Given the description of an element on the screen output the (x, y) to click on. 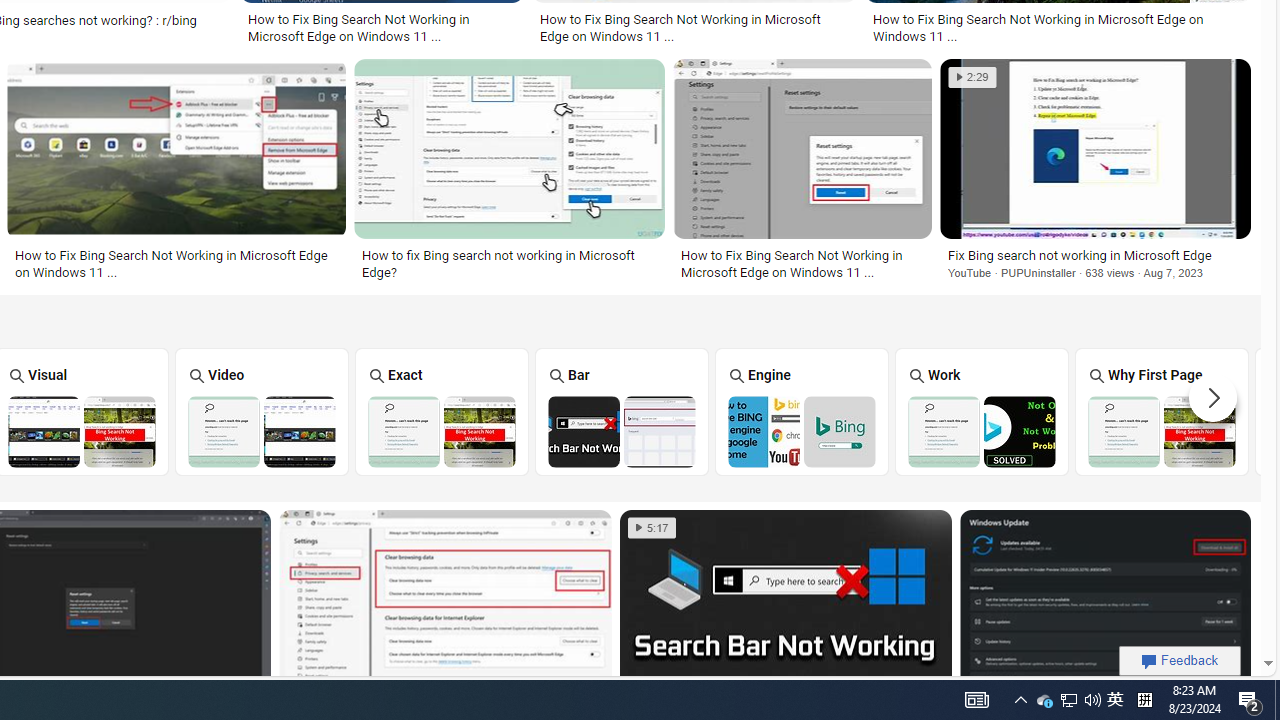
Video (262, 411)
Bing Visual Search Not Working (81, 431)
Bing Video Search Not Working (262, 431)
Bing Search Engine Not Working Engine (801, 411)
Image result for Bing Search Not Working (1105, 602)
Bar (621, 411)
Exact (441, 411)
How to fix Bing search not working in Microsoft Edge?Save (513, 173)
Fix Bing search not working in Microsoft Edge (1095, 255)
Work (981, 411)
Bing Exact Search Not Working Exact (441, 411)
